Given the description of an element on the screen output the (x, y) to click on. 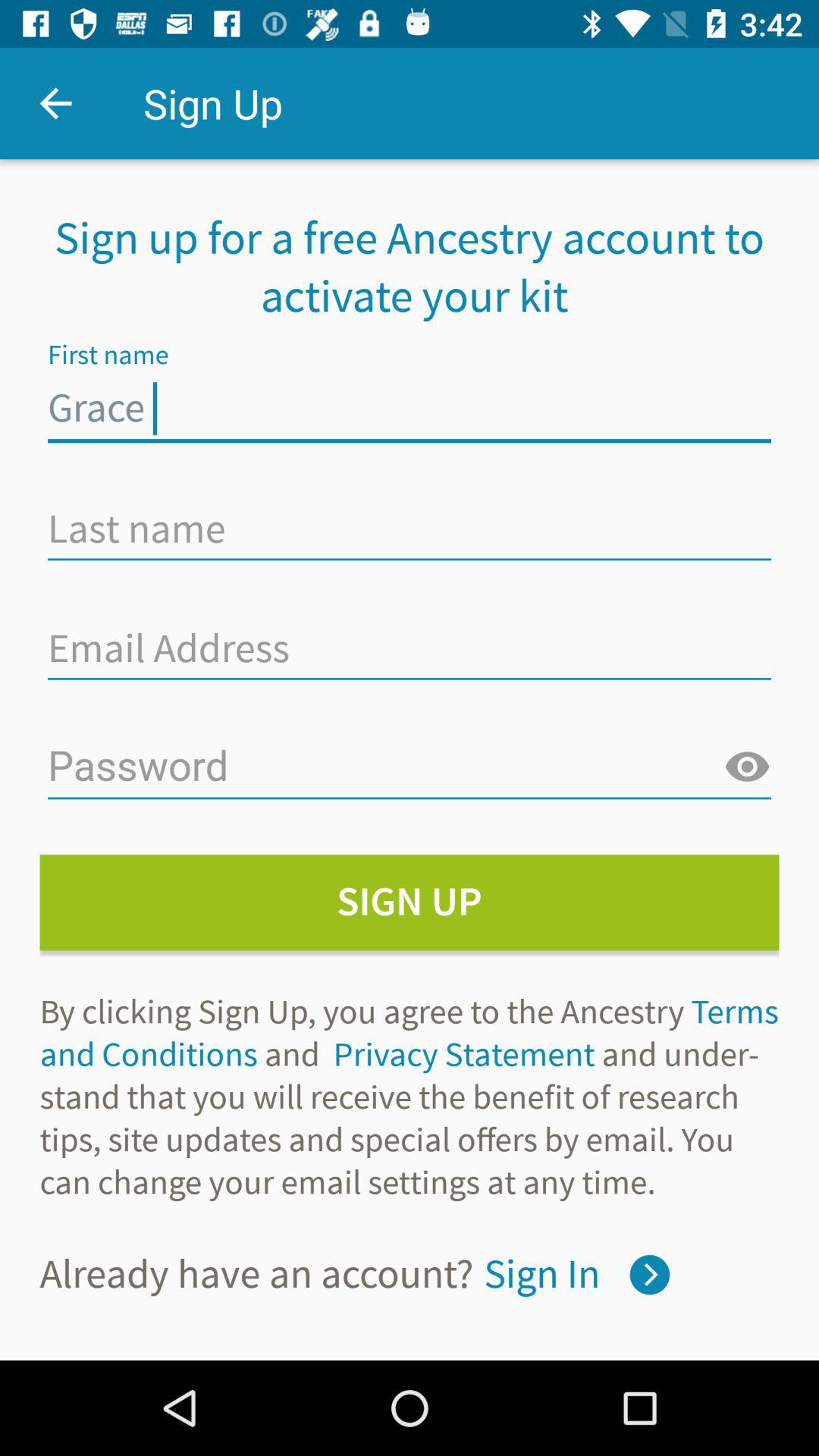
show/hide password (747, 767)
